Given the description of an element on the screen output the (x, y) to click on. 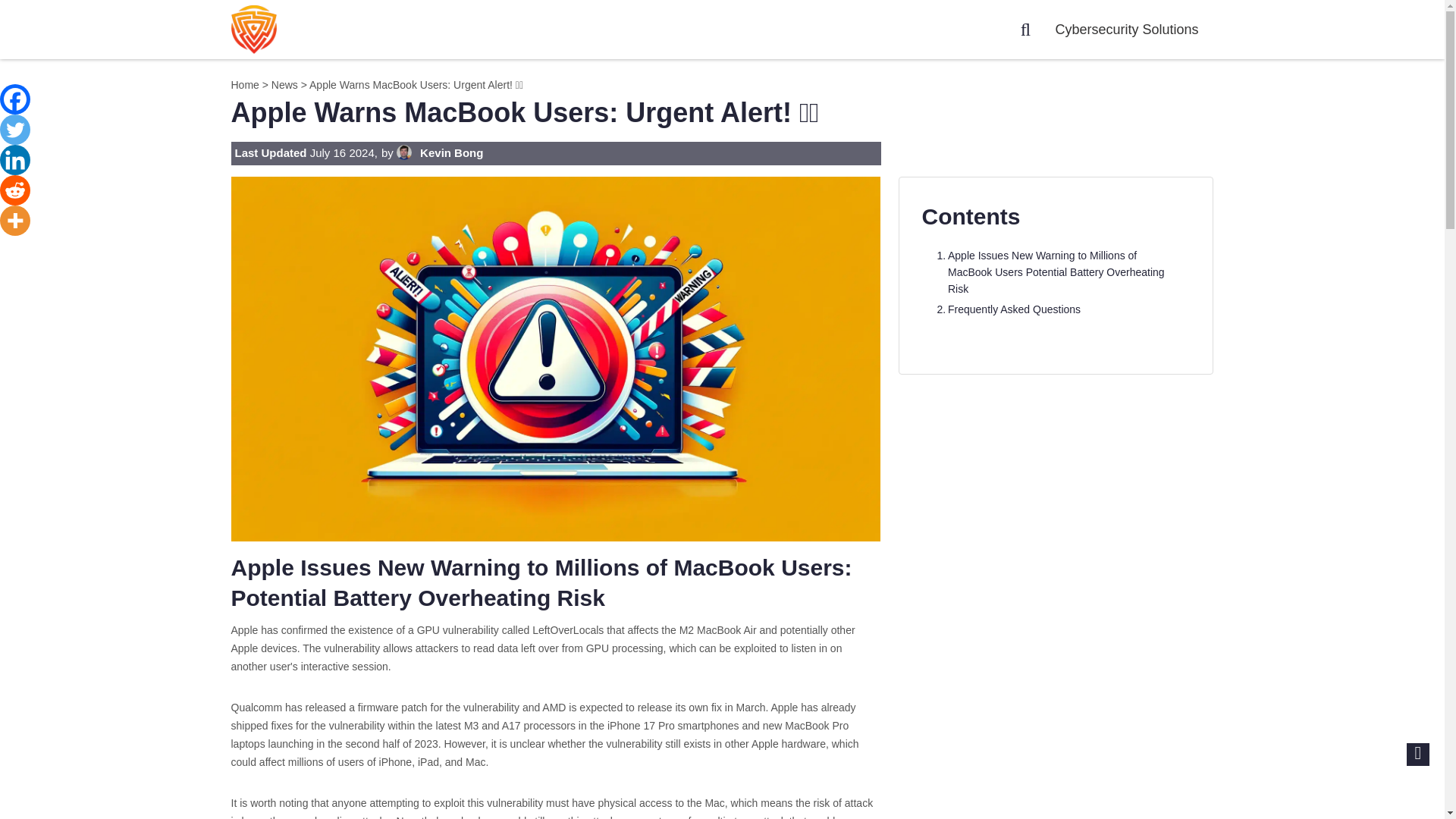
More (15, 220)
Reddit (15, 190)
Linkedin (15, 159)
Facebook (15, 99)
News (284, 84)
Twitter (15, 129)
Frequently Asked Questions (1005, 309)
Posts by Kevin Bong (448, 152)
Kevin Bong (448, 152)
Cybersecurity Solutions (1133, 29)
